Given the description of an element on the screen output the (x, y) to click on. 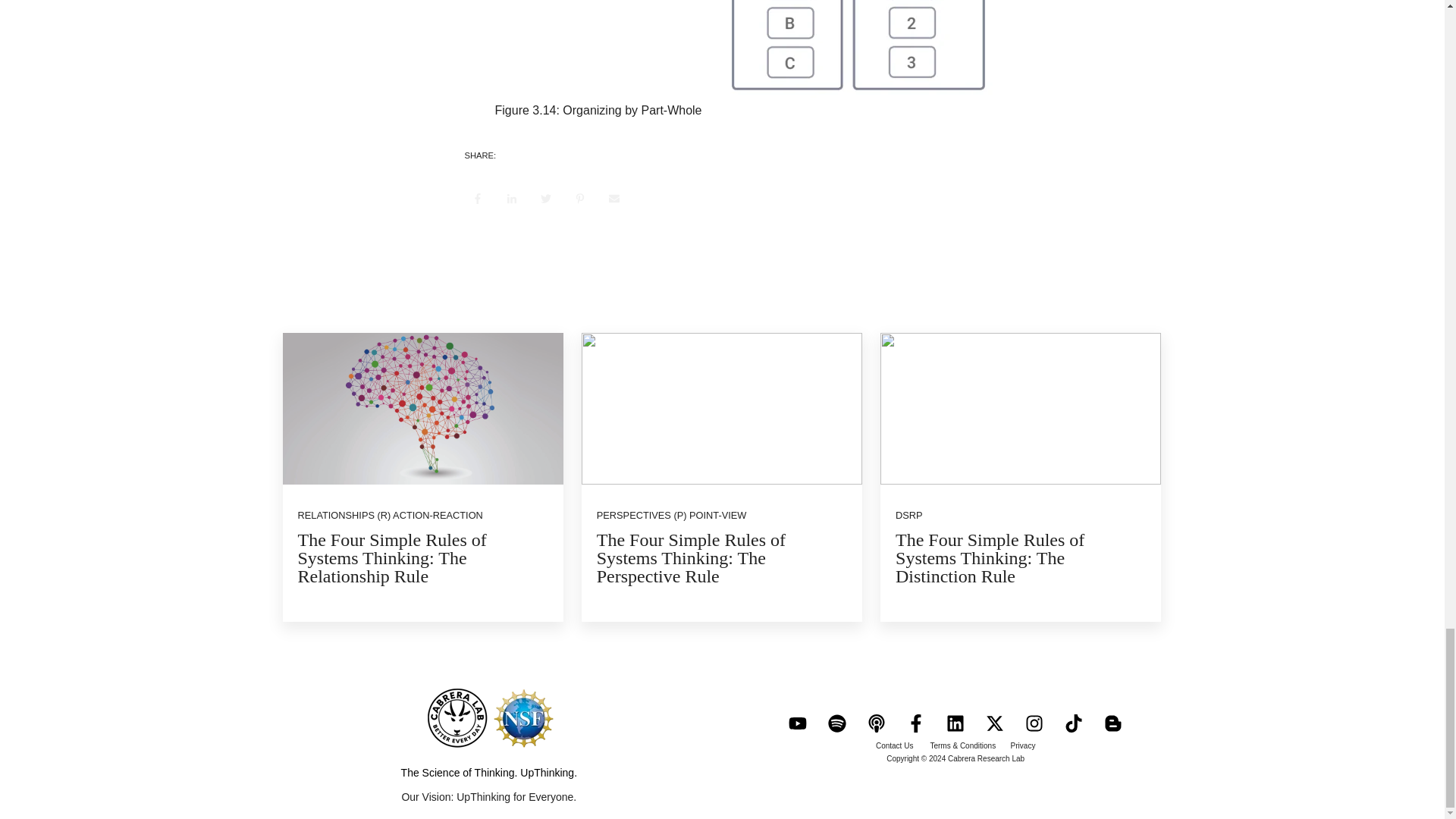
DSRP (909, 514)
